Given the description of an element on the screen output the (x, y) to click on. 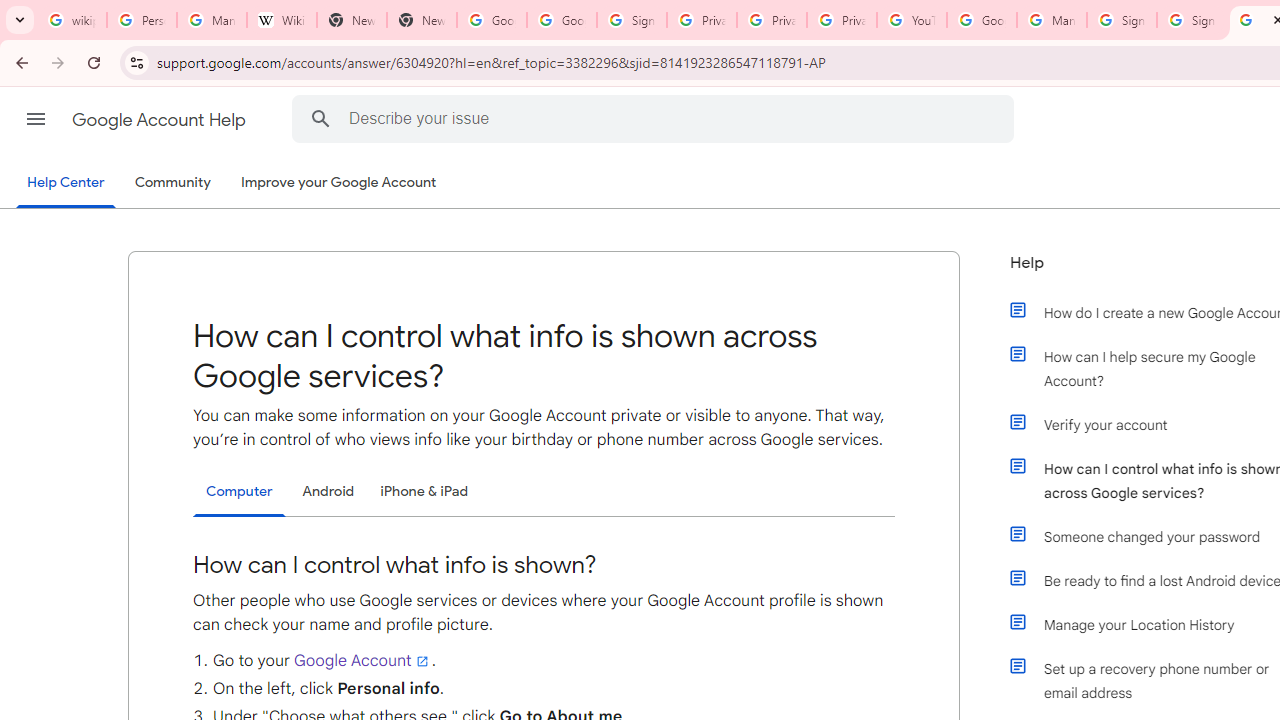
Google Account Help (160, 119)
Android (328, 491)
New Tab (421, 20)
Google Account Help (982, 20)
Describe your issue (655, 118)
iPhone & iPad (424, 491)
Manage your Location History - Google Search Help (211, 20)
Sign in - Google Accounts (1121, 20)
